Given the description of an element on the screen output the (x, y) to click on. 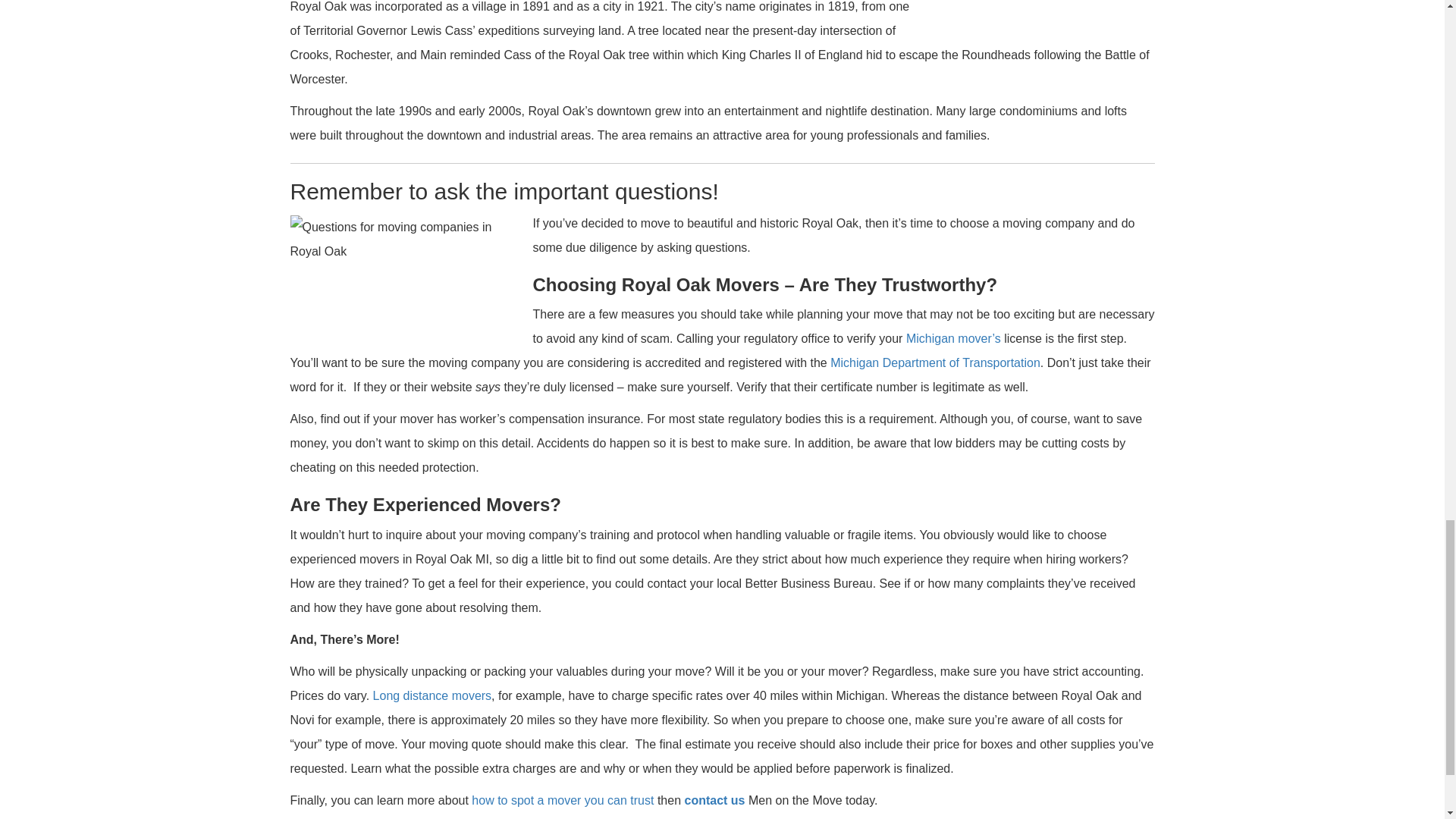
how to spot a mover you can trust (562, 799)
Michigan Department of Transportation (935, 362)
Long distance movers (432, 695)
contact us (714, 799)
